Given the description of an element on the screen output the (x, y) to click on. 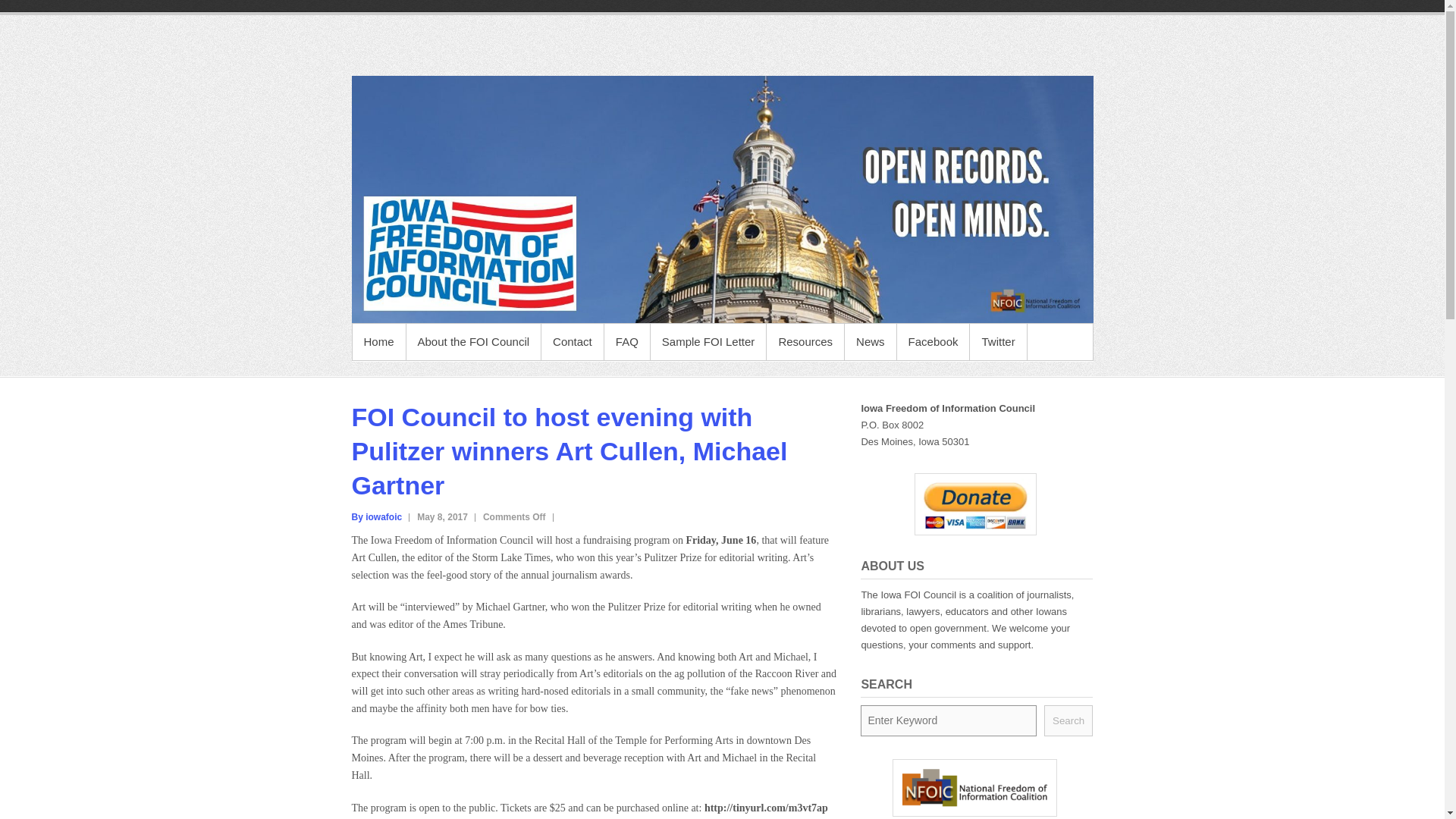
Resources (805, 341)
FAQ (626, 341)
About the FOI Council (473, 341)
Skip to primary content (406, 332)
Home (378, 341)
Twitter (997, 341)
Follow us on Twitter (997, 341)
iowafoic (377, 516)
Follow us on Facebook (932, 341)
